Given the description of an element on the screen output the (x, y) to click on. 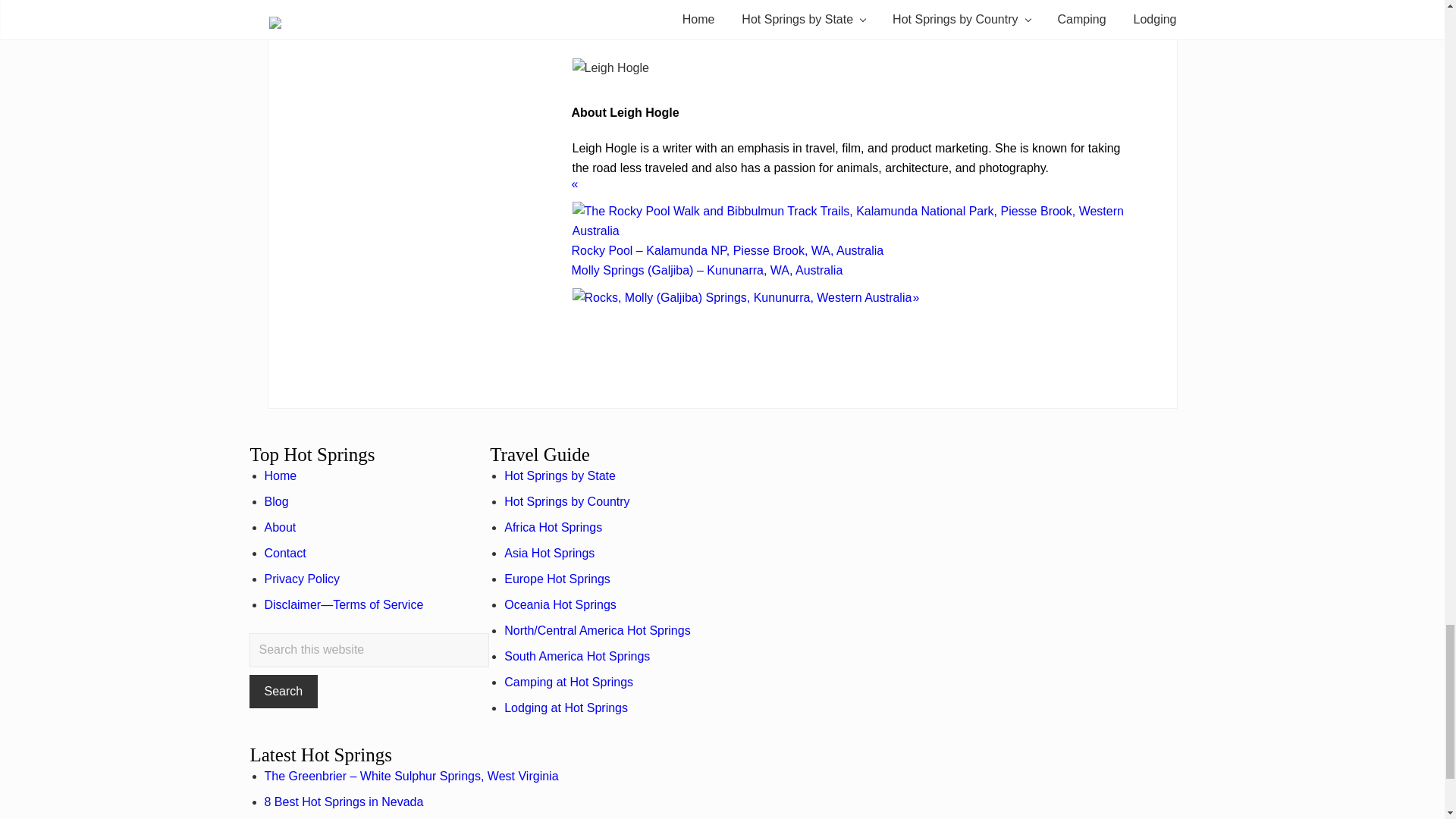
Search (282, 691)
Search (282, 691)
